Given the description of an element on the screen output the (x, y) to click on. 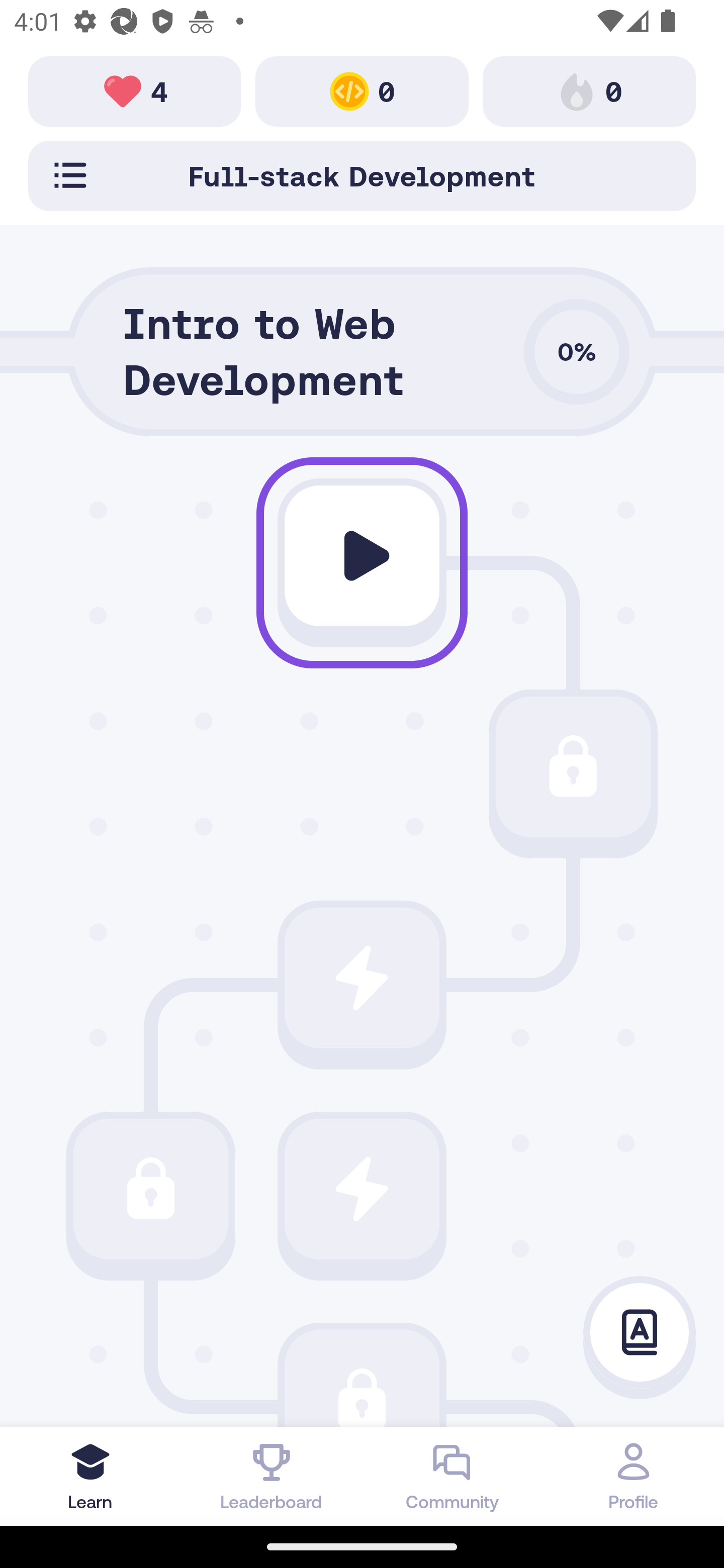
Path Toolbar Image 4 (134, 90)
Path Toolbar Image 0 (361, 90)
Path Toolbar Image 0 (588, 90)
Path Toolbar Selector Full-stack Development (361, 175)
Path Icon (361, 555)
Path Icon (572, 766)
Path Icon (361, 977)
Path Icon (150, 1188)
Path Icon (361, 1188)
Glossary Icon (639, 1332)
Path Icon (361, 1377)
Leaderboard (271, 1475)
Community (452, 1475)
Profile (633, 1475)
